Given the description of an element on the screen output the (x, y) to click on. 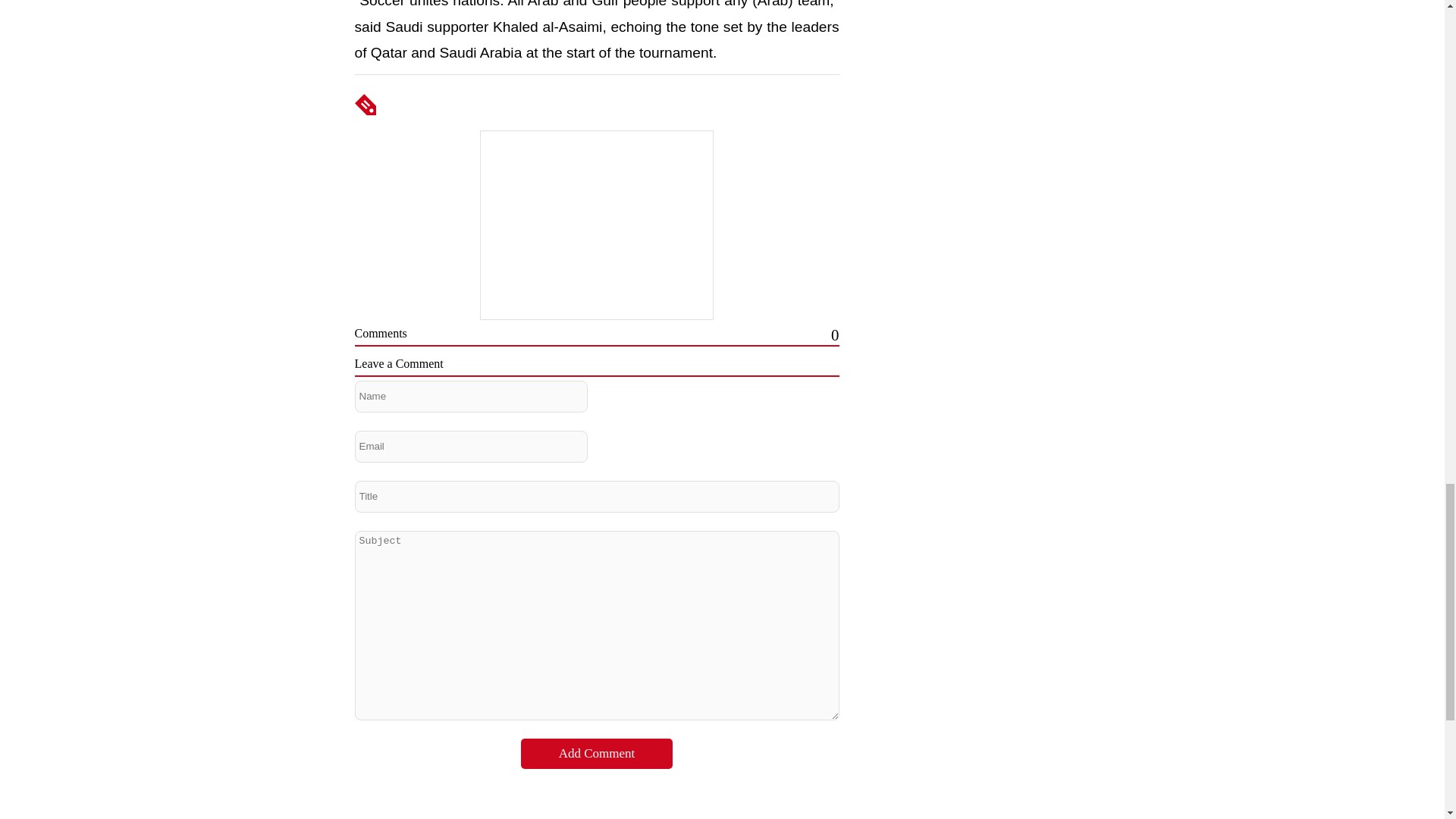
Add Comment (596, 753)
